Given the description of an element on the screen output the (x, y) to click on. 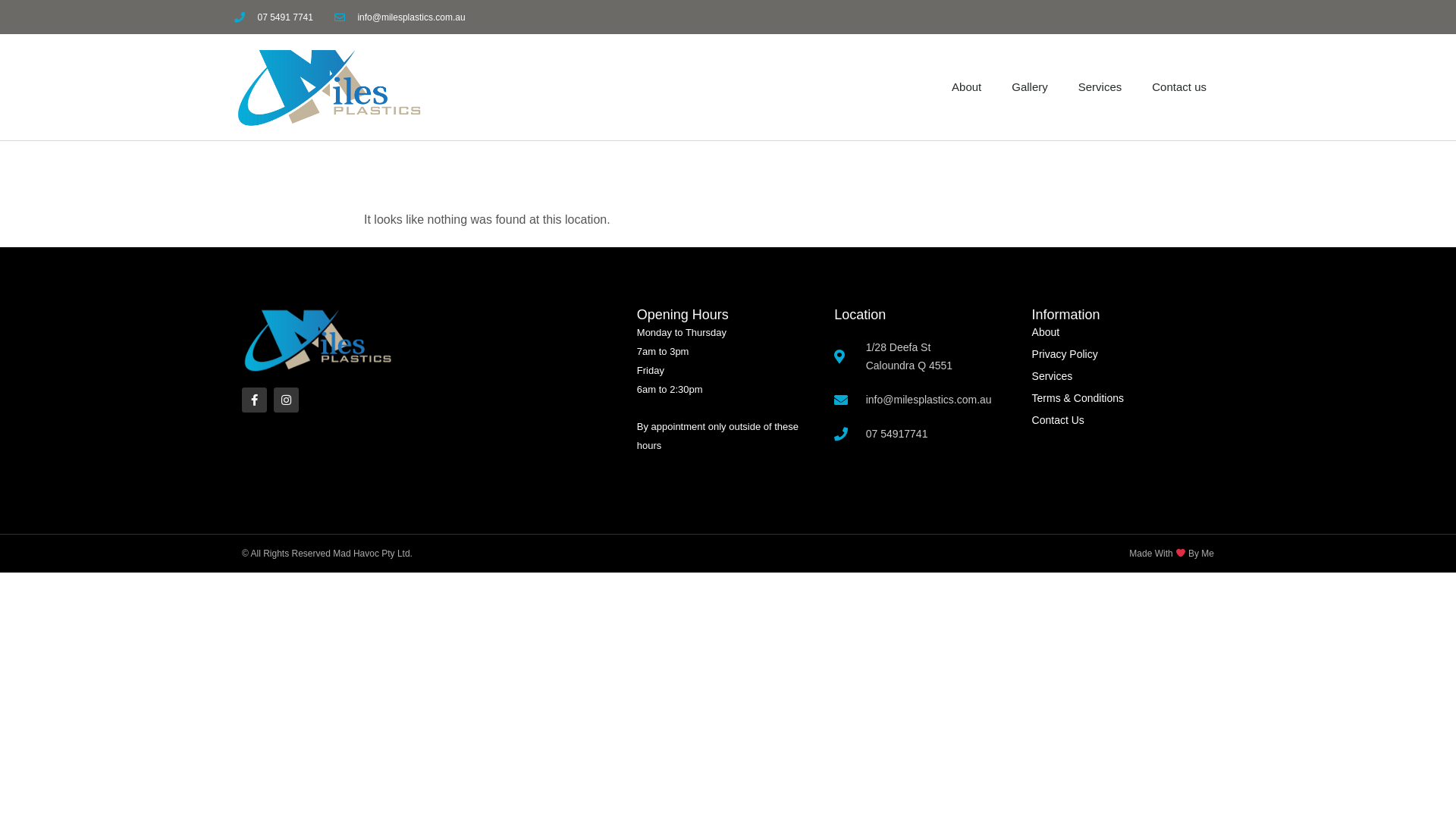
07 54917741 Element type: text (925, 433)
Contact us Element type: text (1178, 87)
info@milesplastics.com.au Element type: text (925, 399)
Terms & Conditions Element type: text (1123, 398)
About Element type: text (966, 87)
Services Element type: text (1100, 87)
Gallery Element type: text (1029, 87)
Privacy Policy Element type: text (1123, 354)
About Element type: text (1123, 332)
07 5491 7741 Element type: text (273, 16)
Contact Us Element type: text (1123, 420)
info@milesplastics.com.au Element type: text (399, 16)
Services Element type: text (1123, 376)
